Given the description of an element on the screen output the (x, y) to click on. 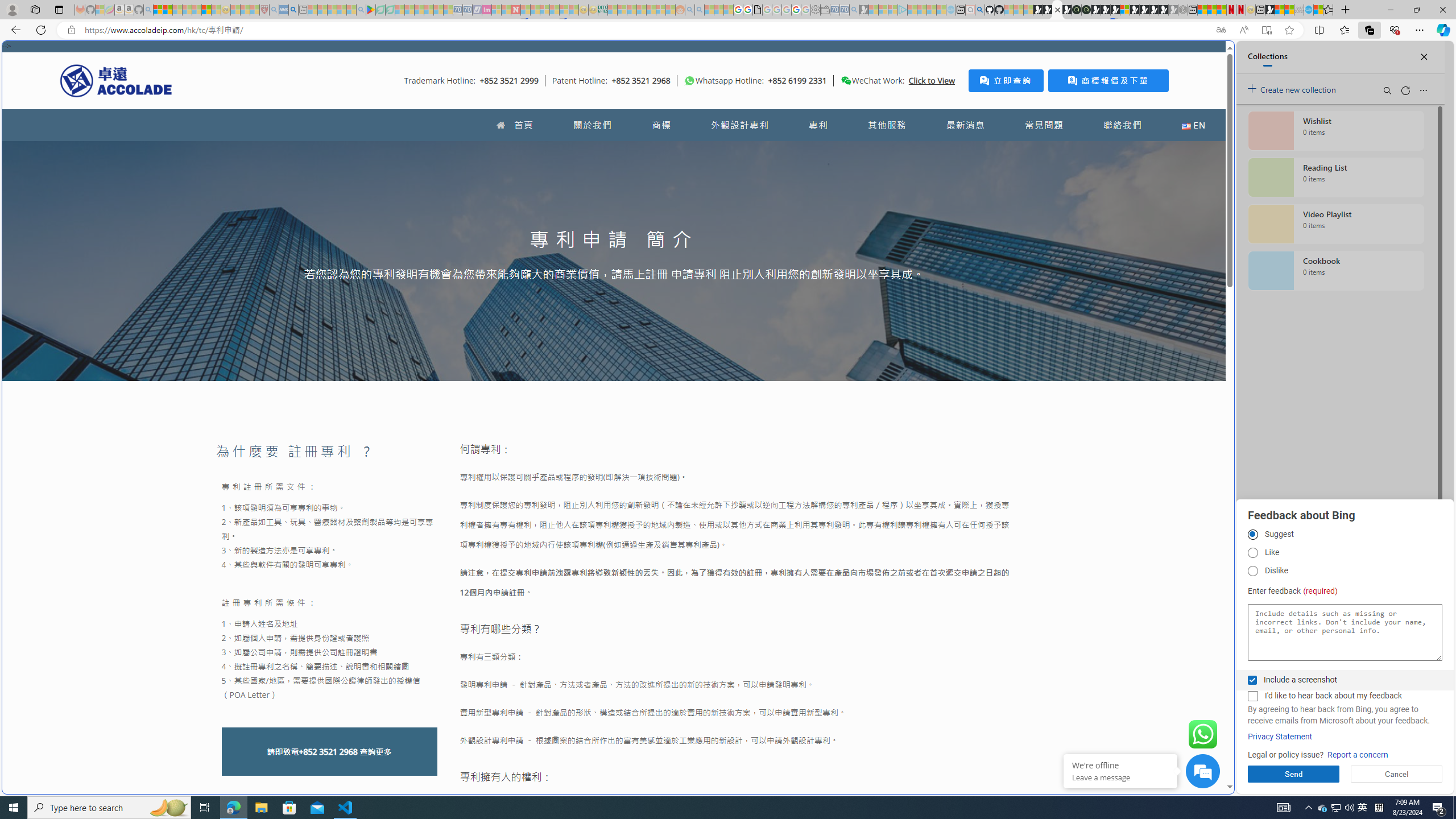
Play Cave FRVR in your browser | Games from Microsoft Start (922, 242)
google_privacy_policy_zh-CN.pdf (1118, 683)
Expert Portfolios - Sleeping (640, 9)
Services - Maintenance | Sky Blue Bikes - Sky Blue Bikes (1307, 9)
EN (1193, 124)
